Given the description of an element on the screen output the (x, y) to click on. 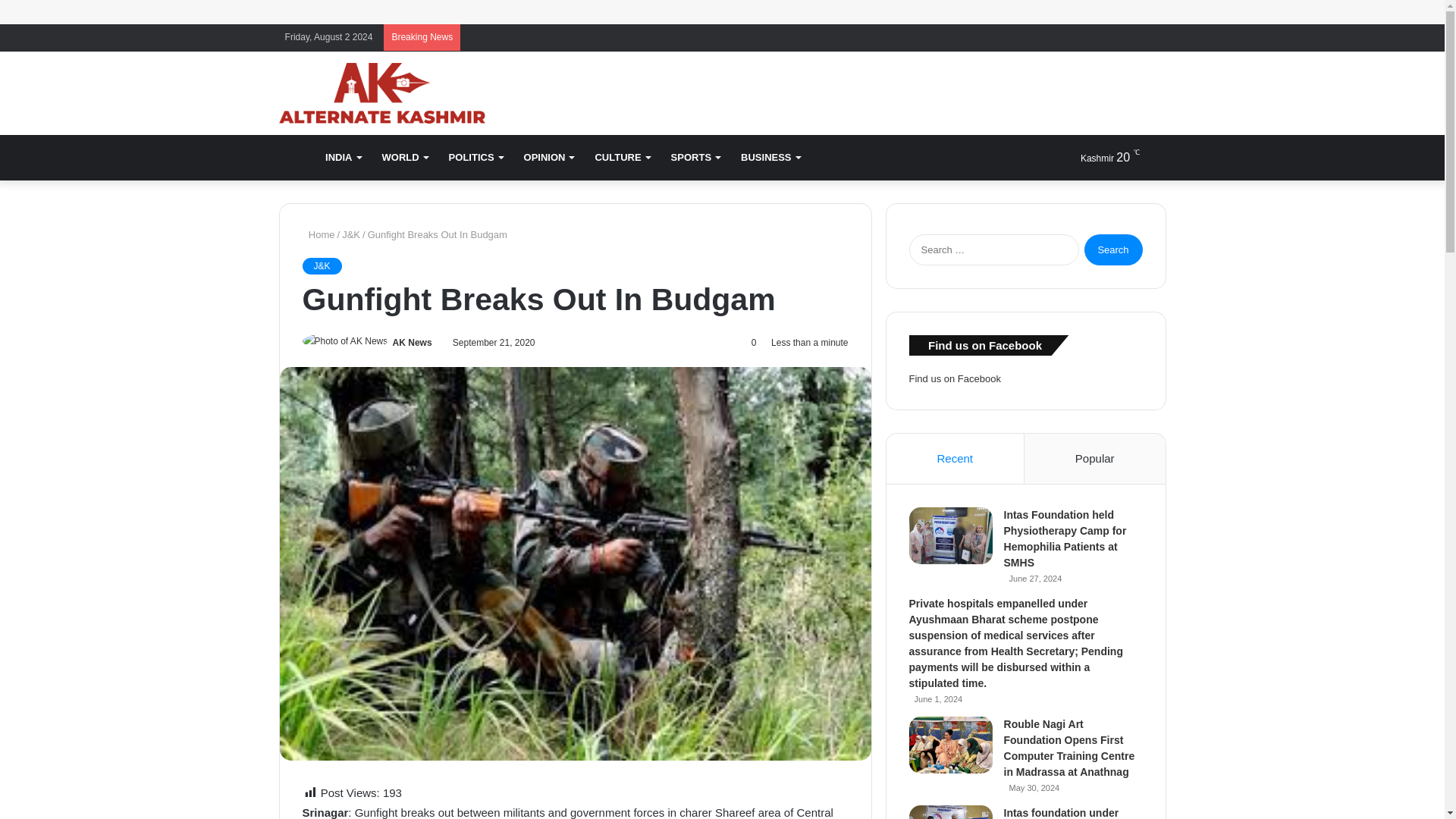
POLITICS (475, 157)
OPINION (549, 157)
Search (1113, 249)
INDIA (342, 157)
CULTURE (621, 157)
Alternate Kashmir (381, 93)
SPORTS (695, 157)
AK News (412, 342)
WORLD (404, 157)
Search (1113, 249)
